Given the description of an element on the screen output the (x, y) to click on. 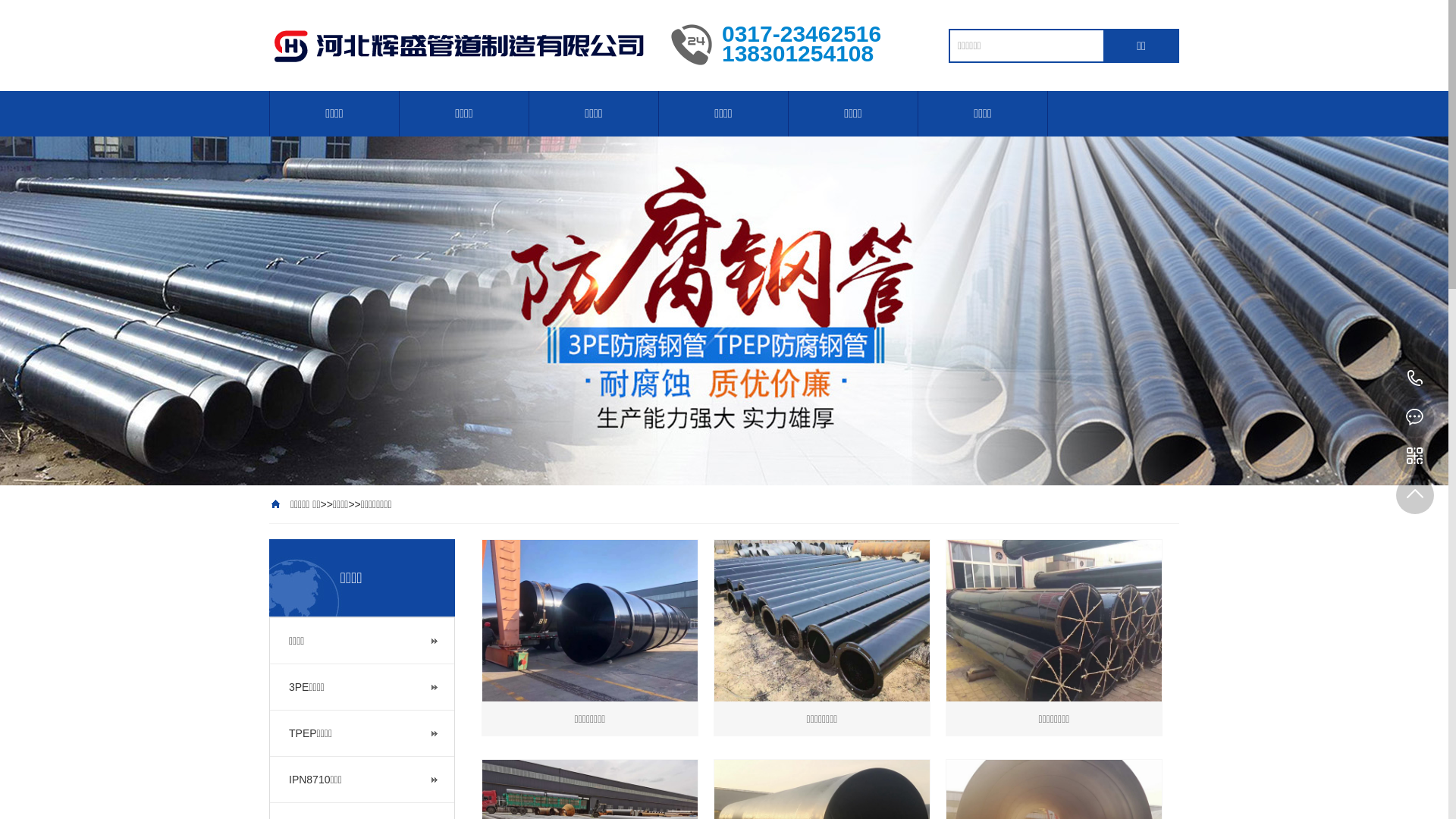
138301254108 Element type: text (1415, 379)
